Given the description of an element on the screen output the (x, y) to click on. 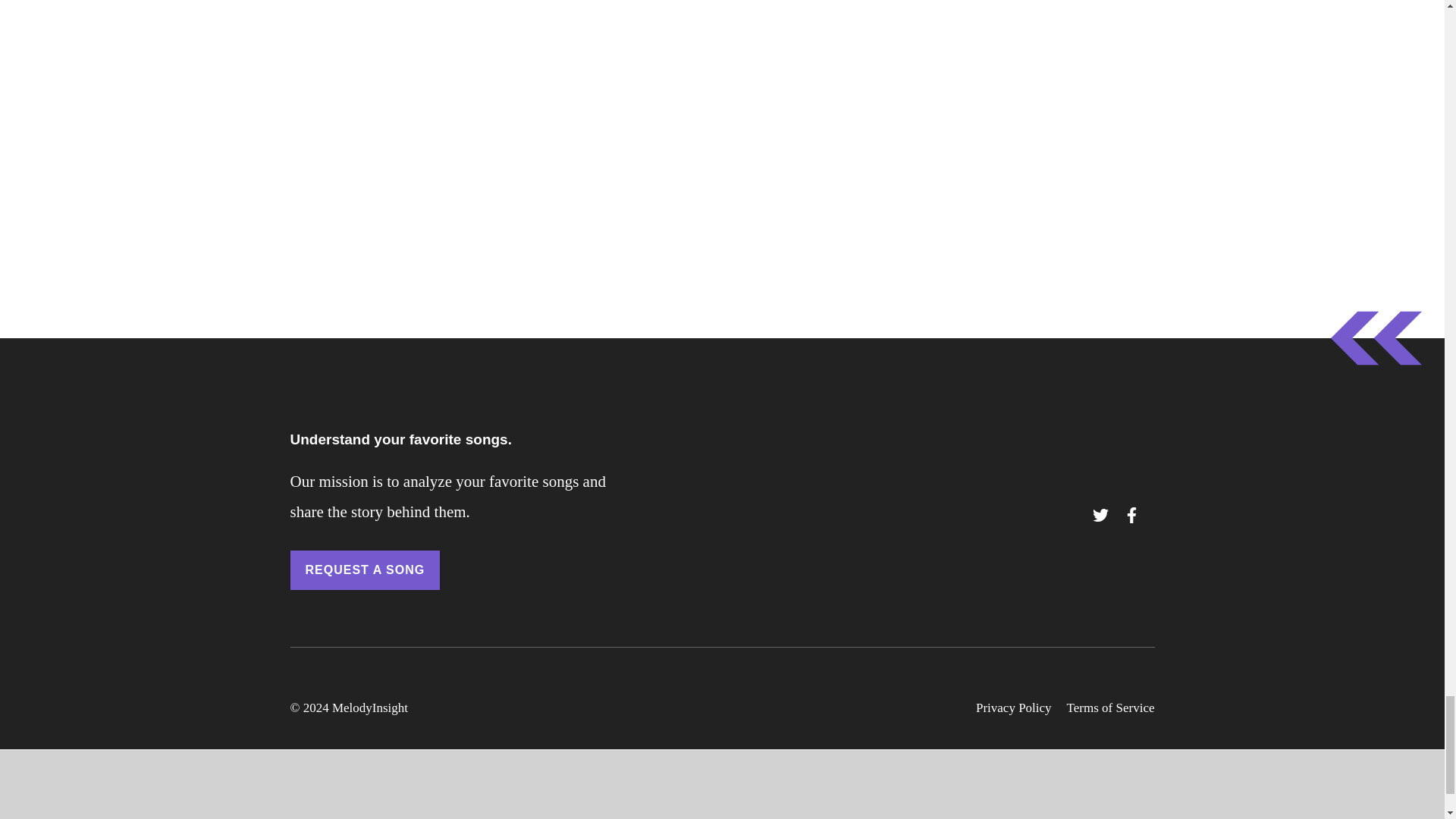
Terms of Service (1110, 707)
Privacy Policy (1013, 707)
REQUEST A SONG (364, 569)
